Given the description of an element on the screen output the (x, y) to click on. 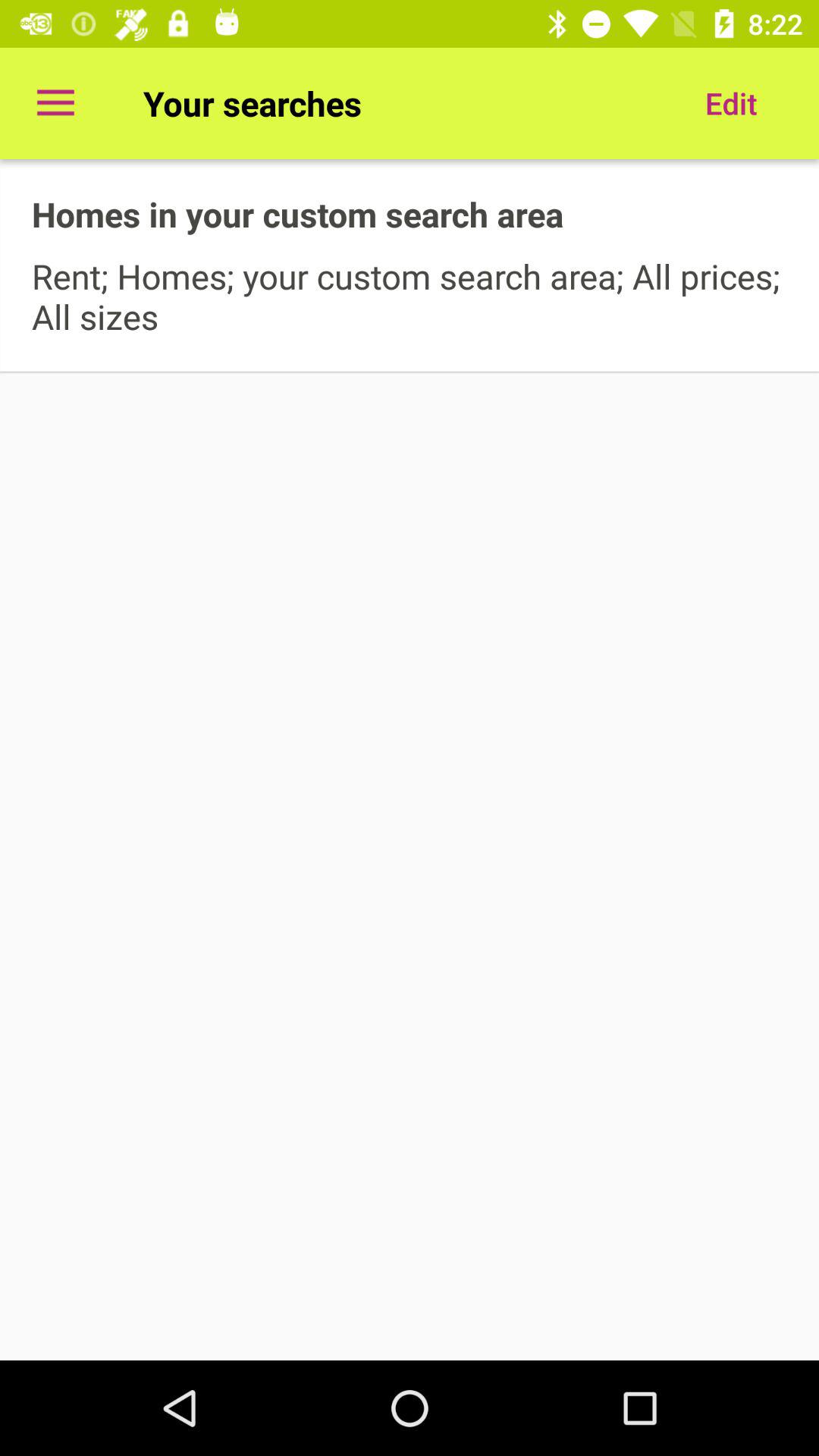
select item at the top left corner (55, 103)
